Given the description of an element on the screen output the (x, y) to click on. 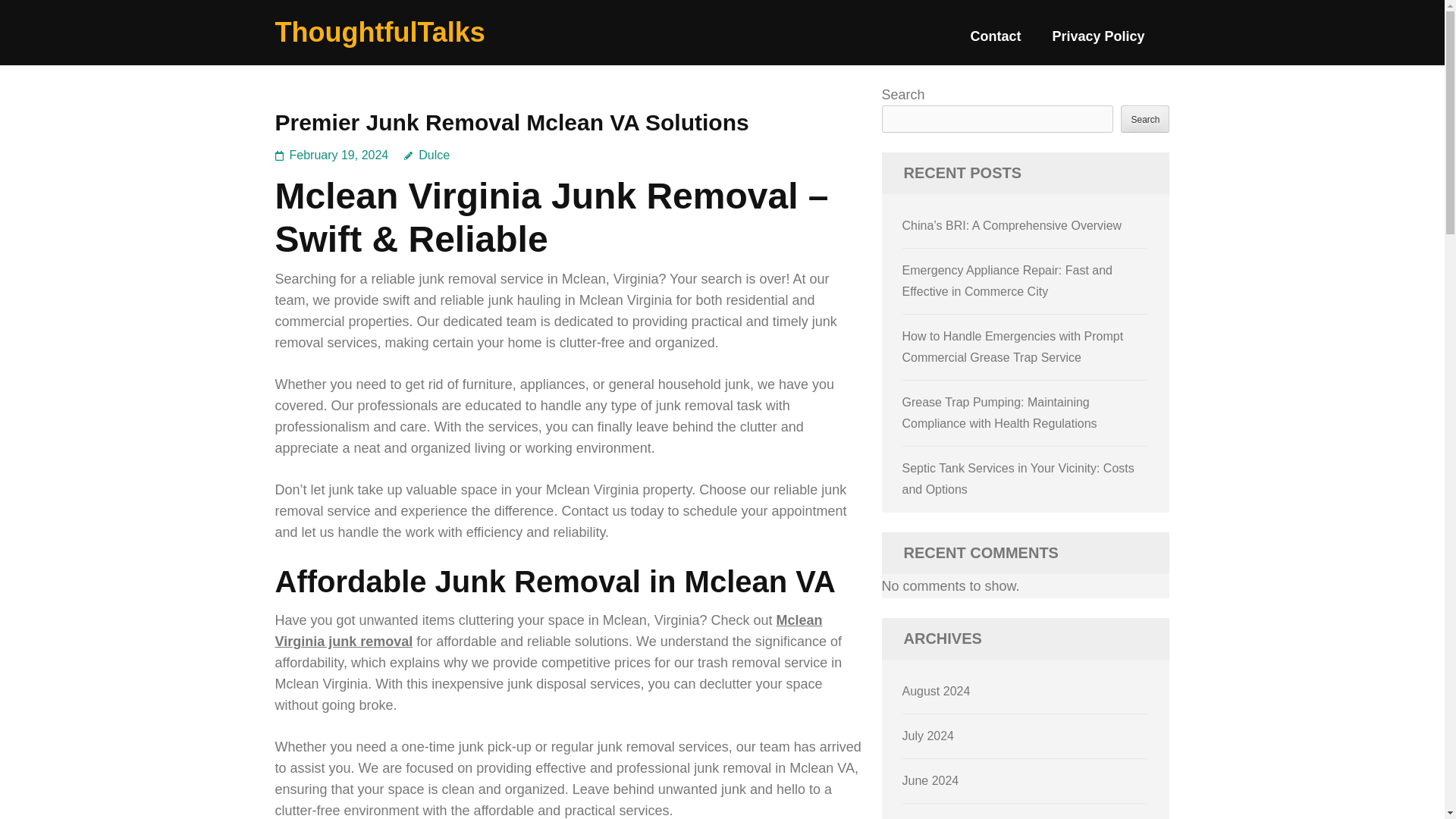
August 2024 (936, 690)
Contact (994, 42)
Privacy Policy (1097, 42)
Dulce (426, 154)
July 2024 (928, 735)
Septic Tank Services in Your Vicinity: Costs and Options (1018, 478)
February 19, 2024 (338, 154)
June 2024 (930, 780)
Mclean Virginia junk removal (548, 630)
ThoughtfulTalks (379, 31)
Search (1145, 118)
